Given the description of an element on the screen output the (x, y) to click on. 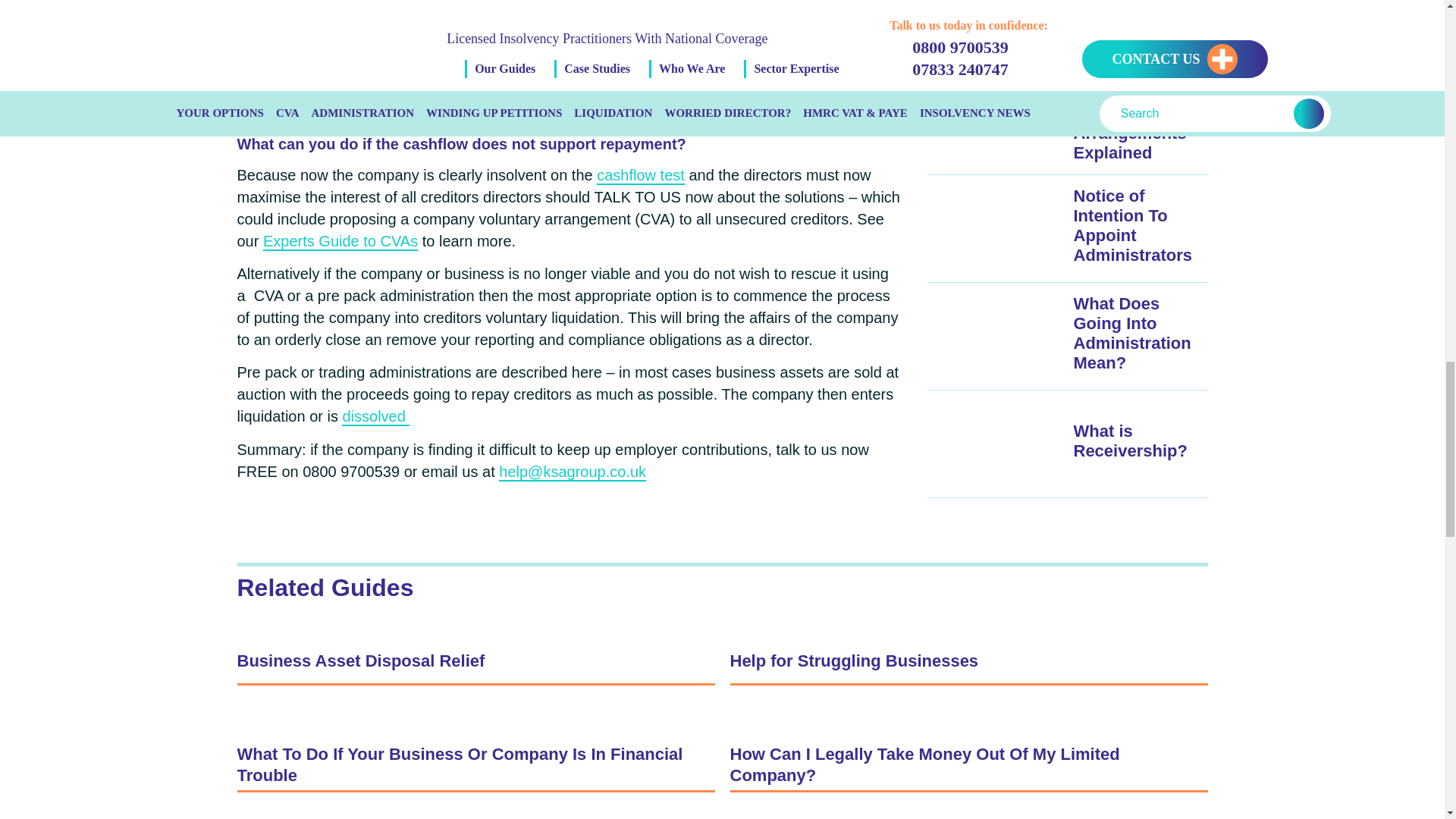
How Can I Legally Take Money Out Of My Limited Company? (968, 766)
Help for Struggling Businesses (968, 662)
Business Asset Disposal Relief (474, 662)
dissolved  (375, 416)
Experts Guide to CVAs (340, 241)
cashflow test (640, 176)
Business Asset Disposal Relief (474, 662)
